Given the description of an element on the screen output the (x, y) to click on. 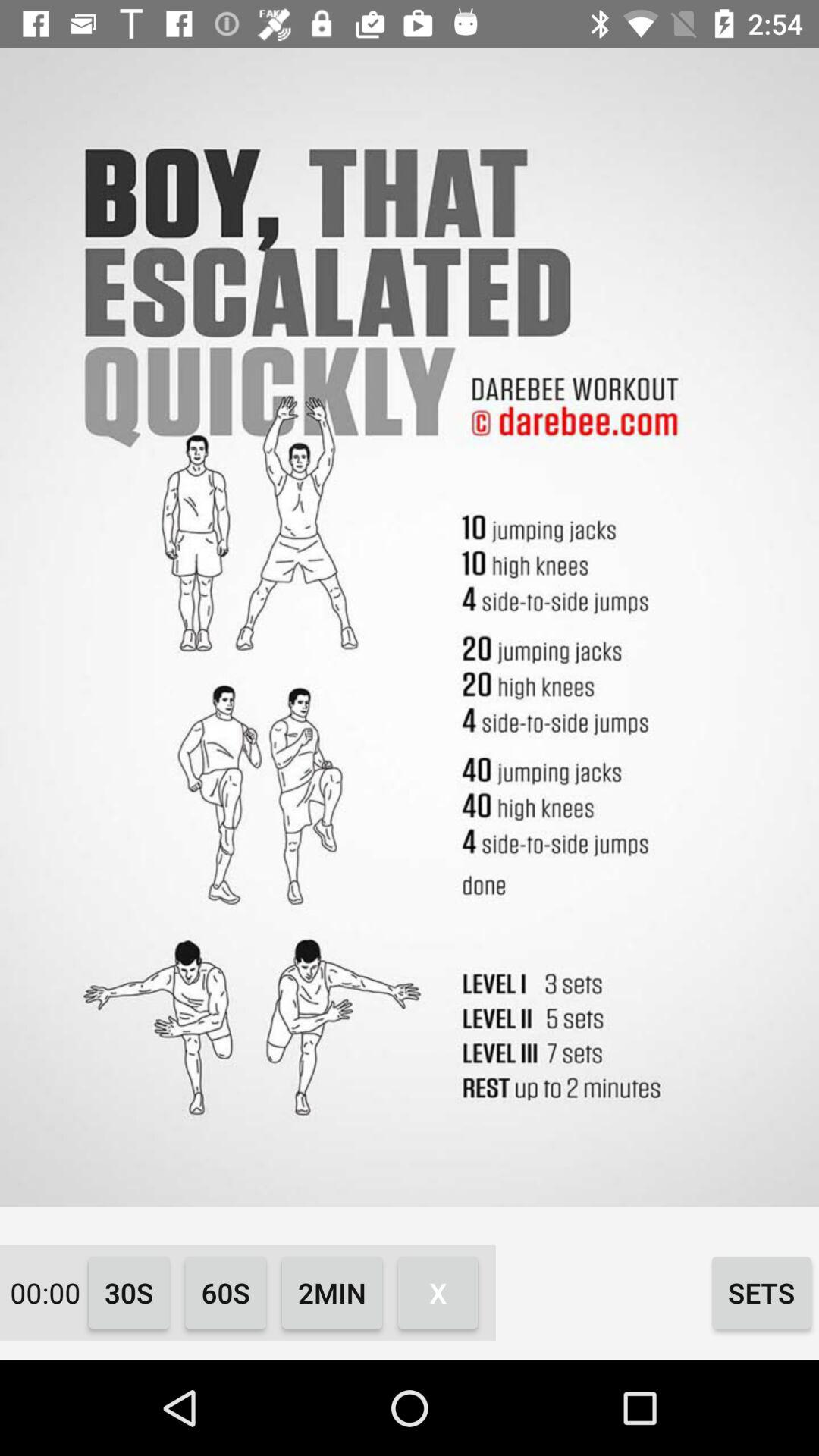
turn on the item to the right of the x item (761, 1292)
